Given the description of an element on the screen output the (x, y) to click on. 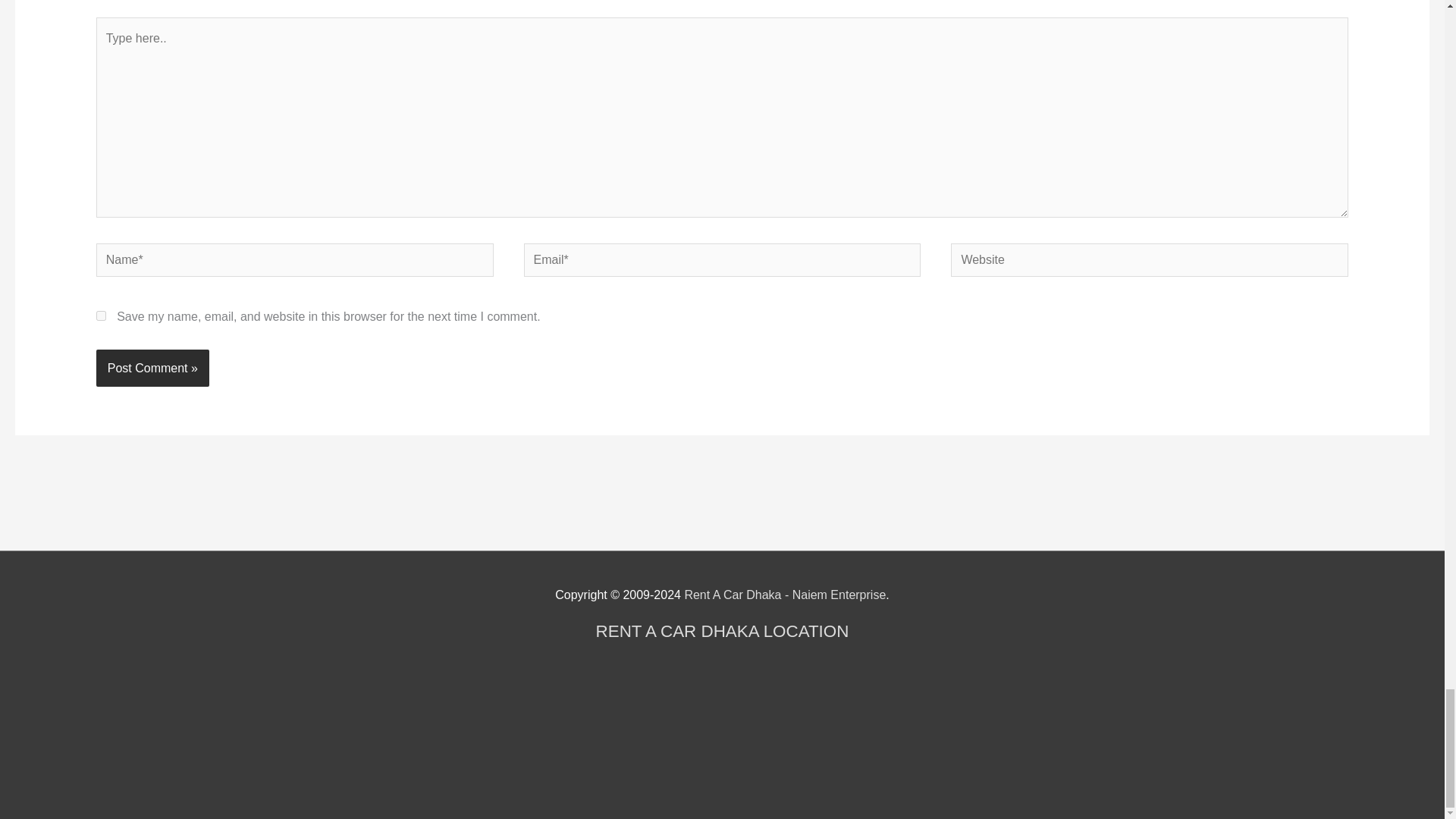
yes (101, 316)
Rent A Car Dhaka - Naiem Enterprise (784, 594)
